Given the description of an element on the screen output the (x, y) to click on. 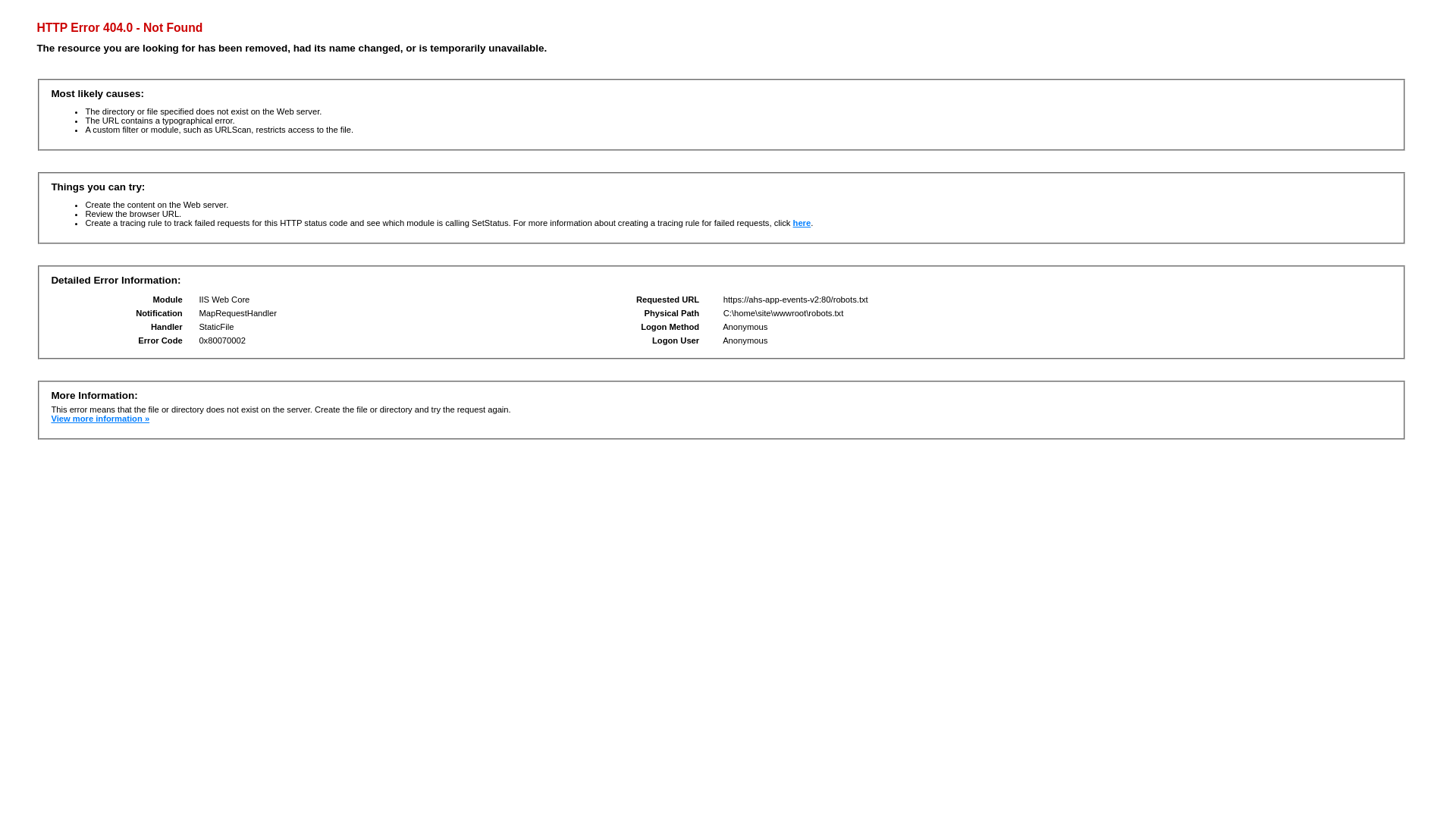
here Element type: text (802, 222)
